Given the description of an element on the screen output the (x, y) to click on. 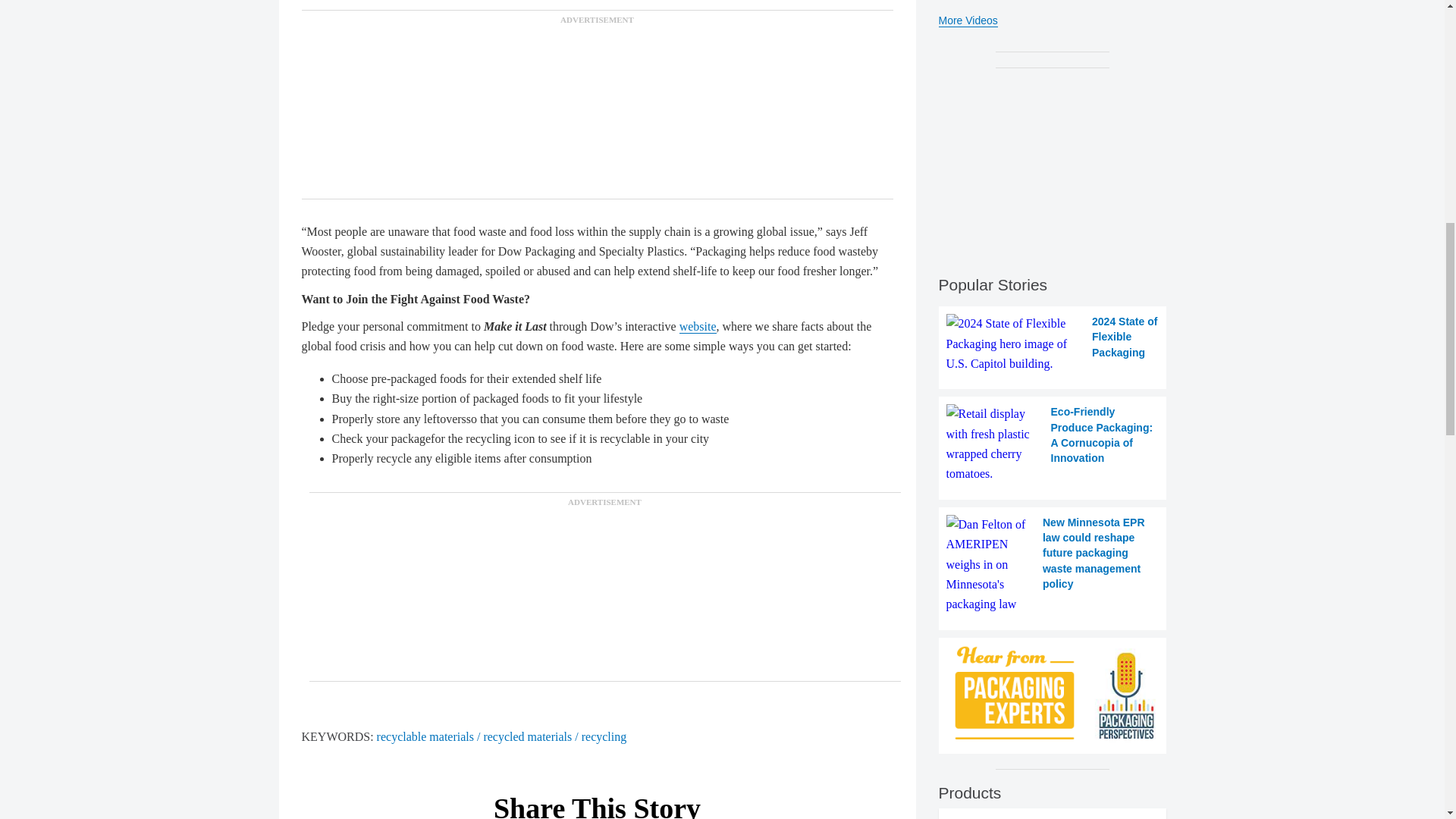
Eco-Friendly Produce Packaging: A Cornucopia of Innovation (1052, 444)
2024 State of Flexible Packaging (1052, 343)
